Given the description of an element on the screen output the (x, y) to click on. 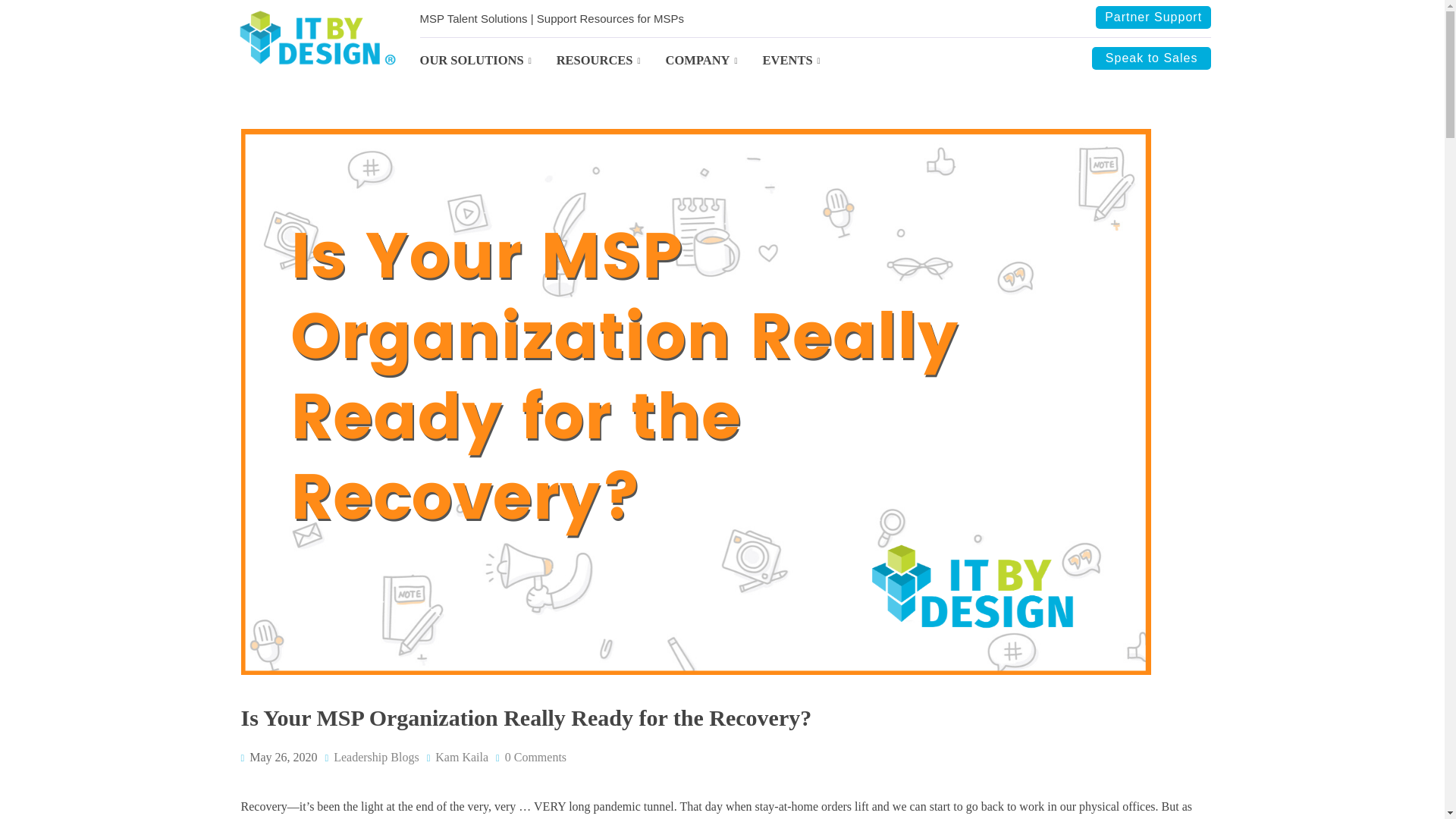
OUR SOLUTIONS (488, 60)
EVENTS (803, 60)
Partner Support (1153, 16)
RESOURCES (610, 60)
COMPANY (713, 60)
